Given the description of an element on the screen output the (x, y) to click on. 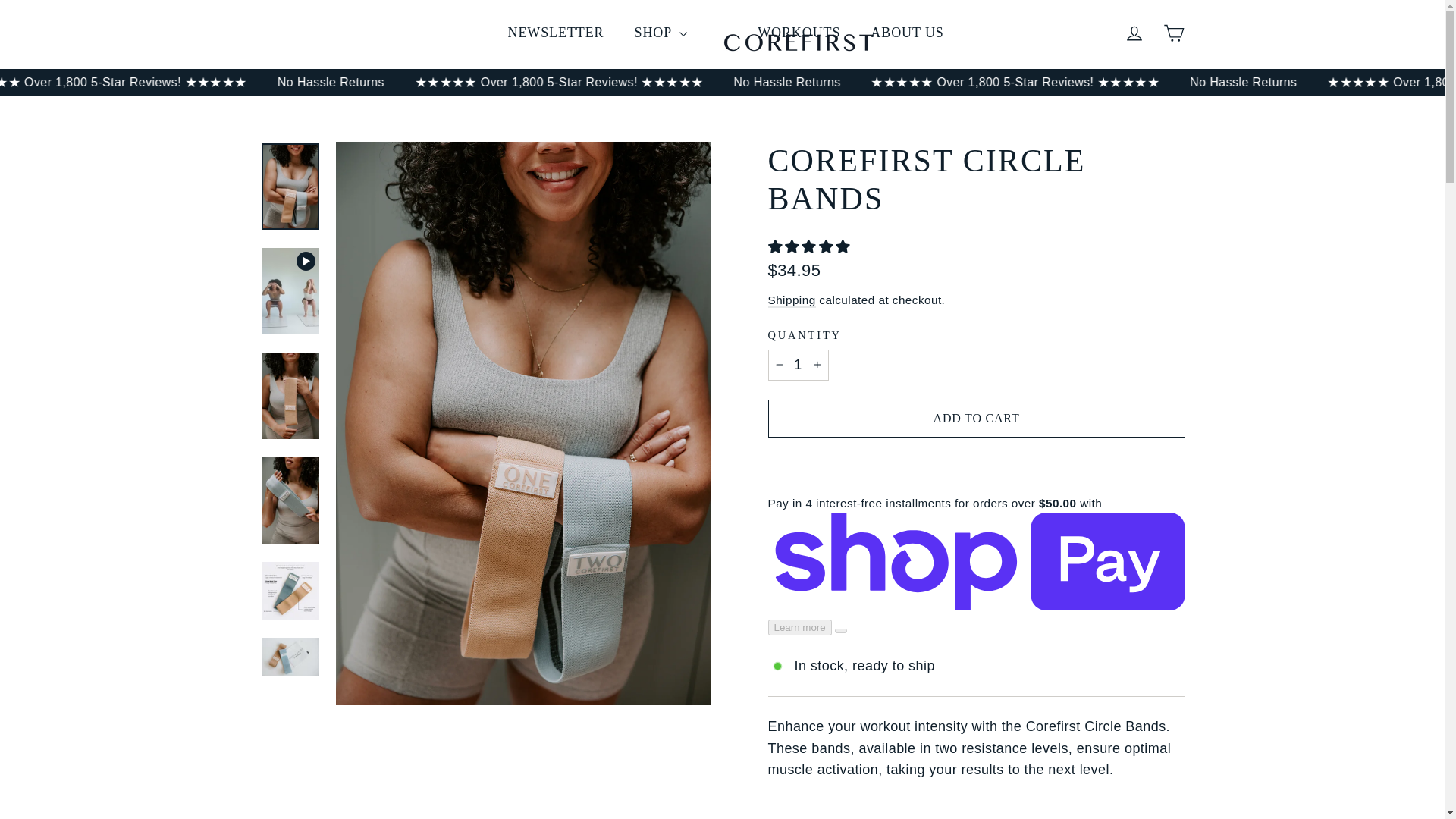
NEWSLETTER (1134, 33)
1 (556, 33)
ACCOUNT (797, 364)
ABOUT US (1134, 33)
ICON-CART (907, 33)
WORKOUTS (1173, 33)
